Given the description of an element on the screen output the (x, y) to click on. 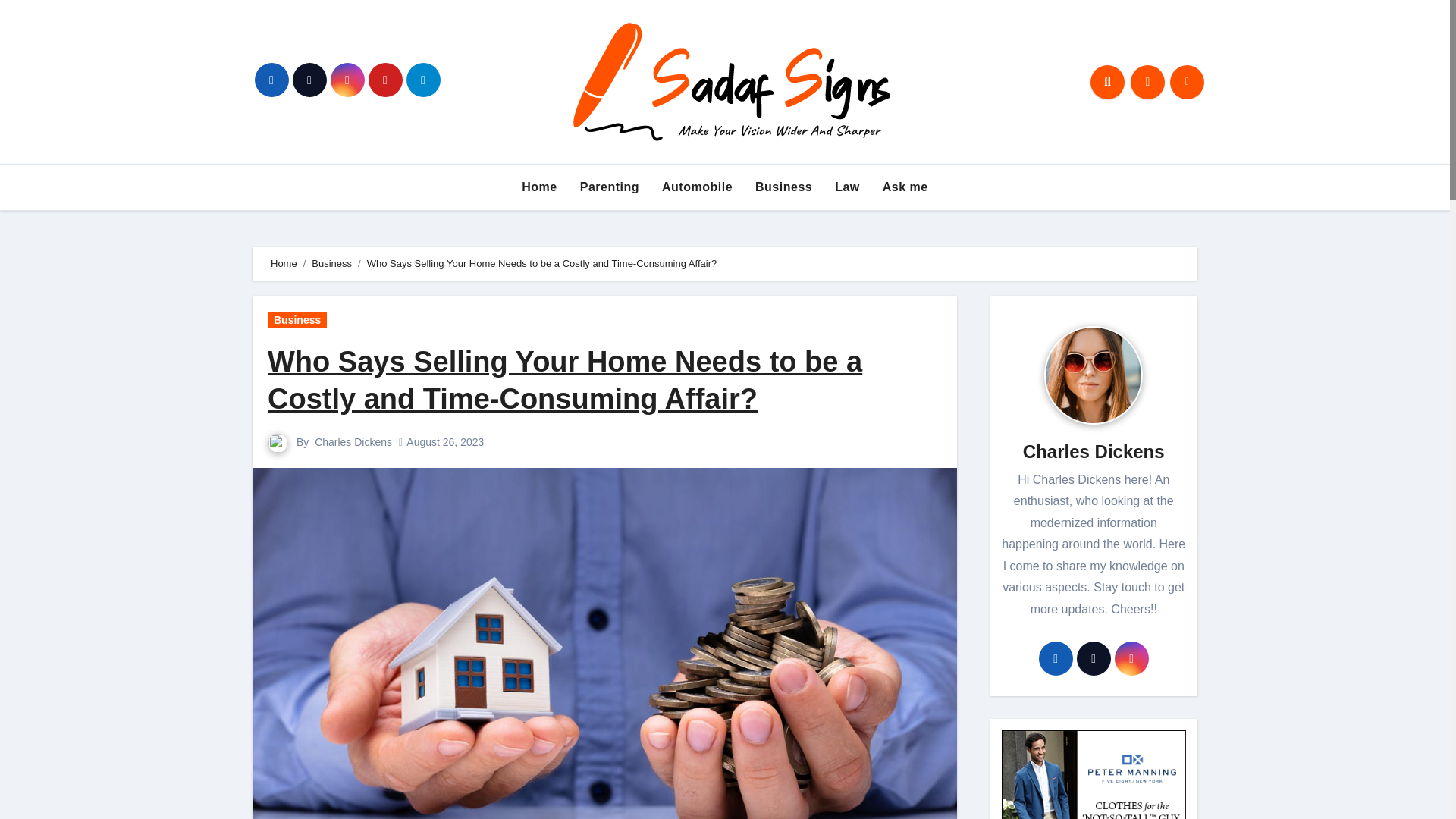
Business (784, 186)
Home (283, 263)
Automobile (697, 186)
Business (331, 263)
Home (539, 186)
Parenting (609, 186)
Law (847, 186)
Business (296, 320)
